Given the description of an element on the screen output the (x, y) to click on. 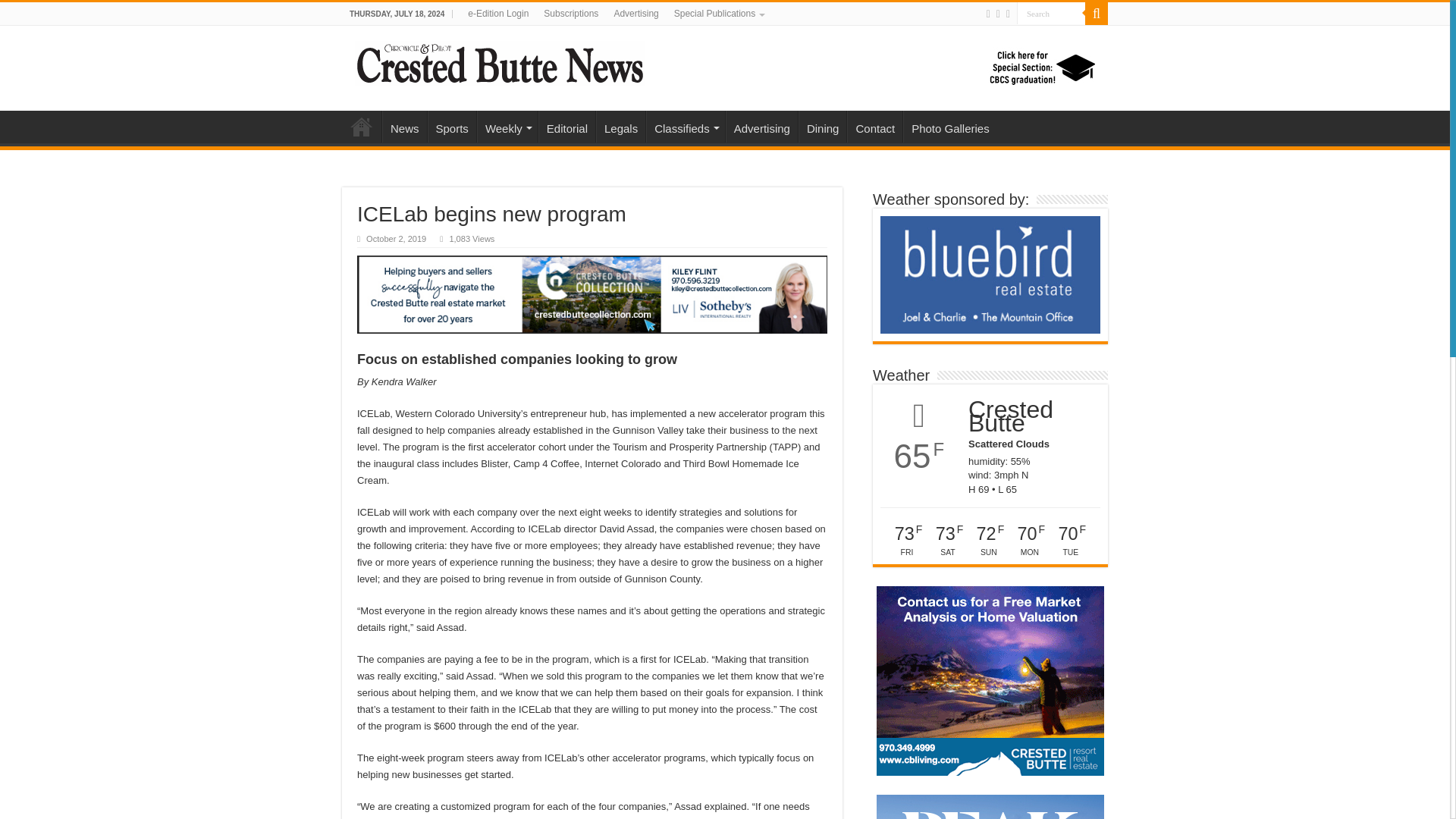
Special Publications (718, 13)
Search (1050, 13)
e-Edition Login (497, 13)
Search (1050, 13)
Advertising (635, 13)
The Crested Butte News (499, 60)
Search (1096, 13)
Search (1050, 13)
Subscriptions (570, 13)
